Given the description of an element on the screen output the (x, y) to click on. 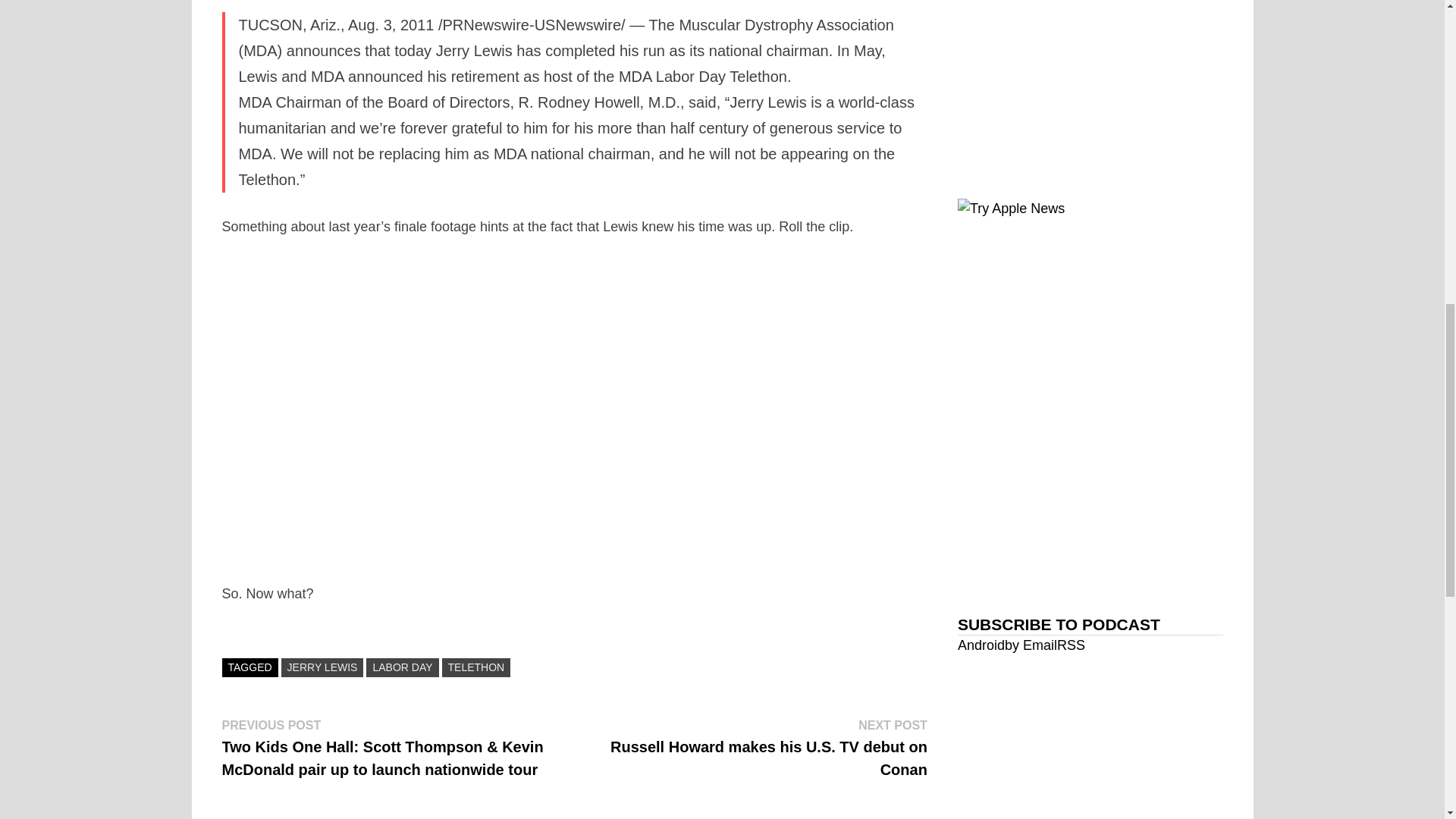
JERRY LEWIS (322, 667)
LABOR DAY (402, 667)
Subscribe on Android (981, 645)
TELETHON (476, 667)
Subscribe by Email (1030, 645)
Subscribe via RSS (1070, 645)
